Given the description of an element on the screen output the (x, y) to click on. 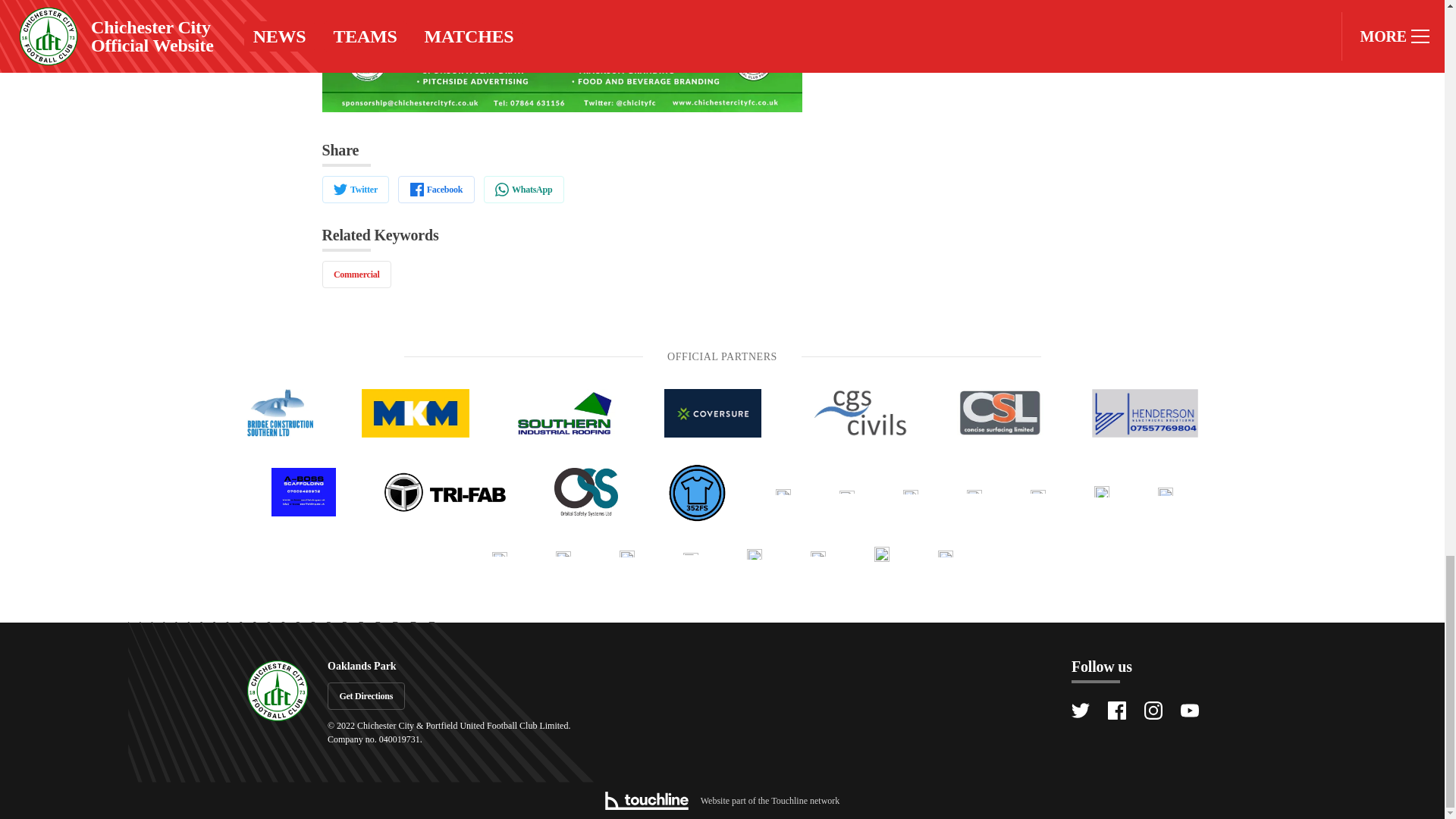
WhatsApp (523, 189)
Find us on Instagram (1152, 710)
Twitter (354, 189)
Find us on Facebook (1116, 710)
Find us on YouTube (1189, 710)
Commercial (355, 274)
Facebook (435, 189)
Find us on Twitter (1080, 710)
